Given the description of an element on the screen output the (x, y) to click on. 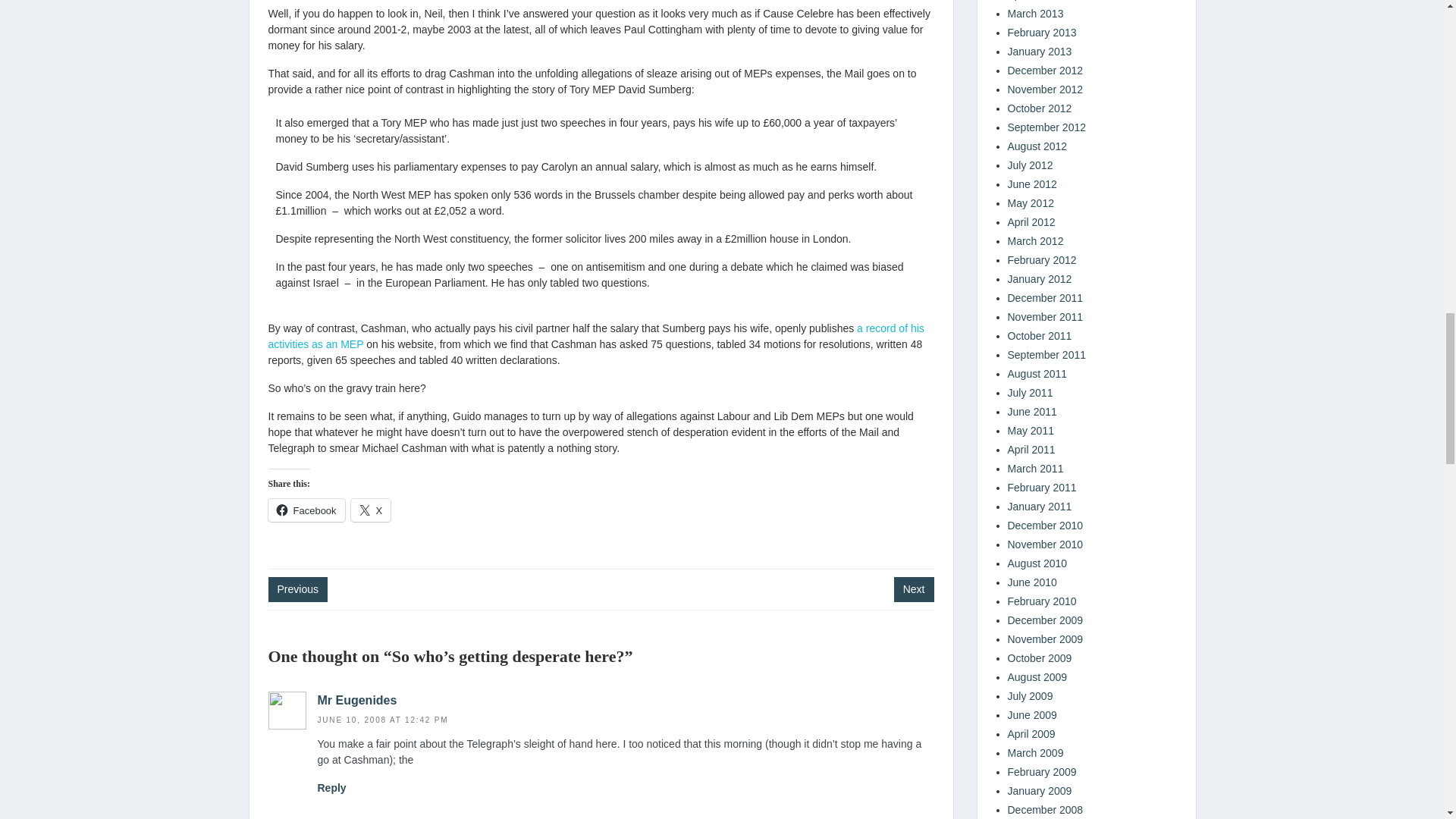
Previous (297, 589)
X (370, 509)
a record of his activities as an MEP (595, 336)
Mr Eugenides (356, 699)
Click to share on Facebook (306, 509)
JUNE 10, 2008 AT 12:42 PM (382, 719)
Next (913, 589)
Reply (331, 787)
Facebook (306, 509)
Click to share on X (370, 509)
